Given the description of an element on the screen output the (x, y) to click on. 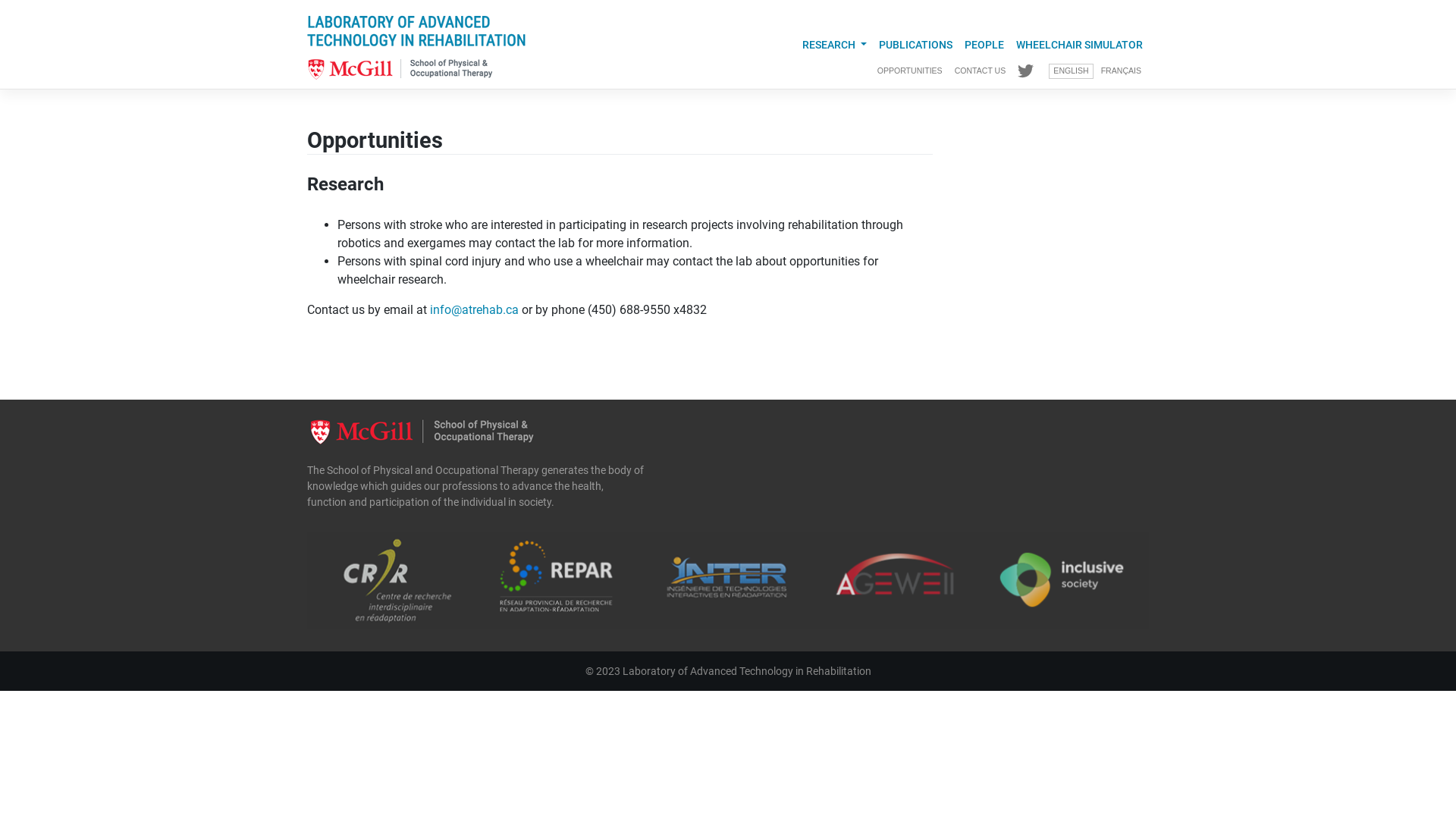
WHEELCHAIR SIMULATOR Element type: text (1079, 45)
PEOPLE Element type: text (984, 45)
OPPORTUNITIES Element type: text (909, 70)
Twitter Element type: hover (1025, 71)
PUBLICATIONS Element type: text (915, 45)
Laboratory of Advanced Technology in Rehabilitation Element type: text (745, 670)
RESEARCH Element type: text (834, 45)
ENGLISH Element type: text (1070, 70)
info@atrehab.ca Element type: text (473, 309)
CONTACT US Element type: text (980, 70)
